Given the description of an element on the screen output the (x, y) to click on. 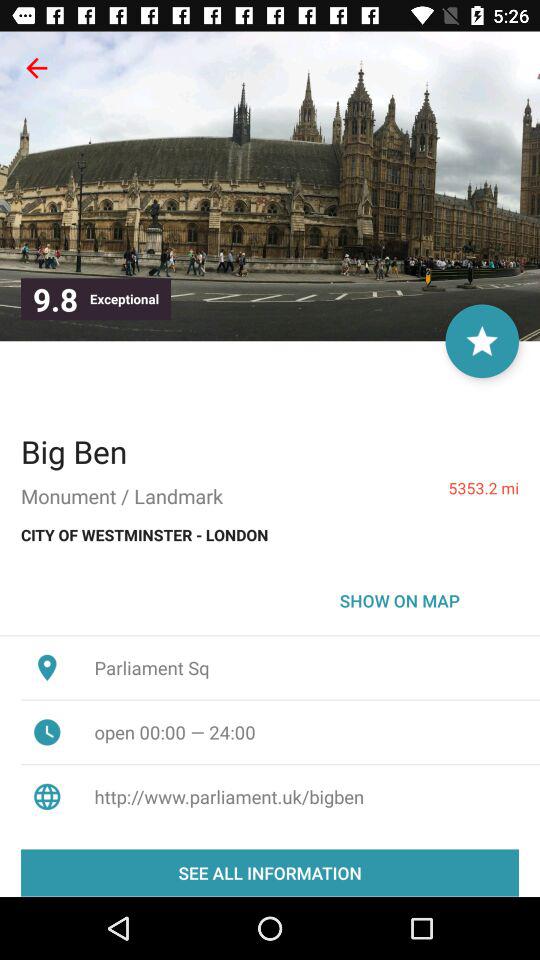
add as favorite (482, 341)
